Given the description of an element on the screen output the (x, y) to click on. 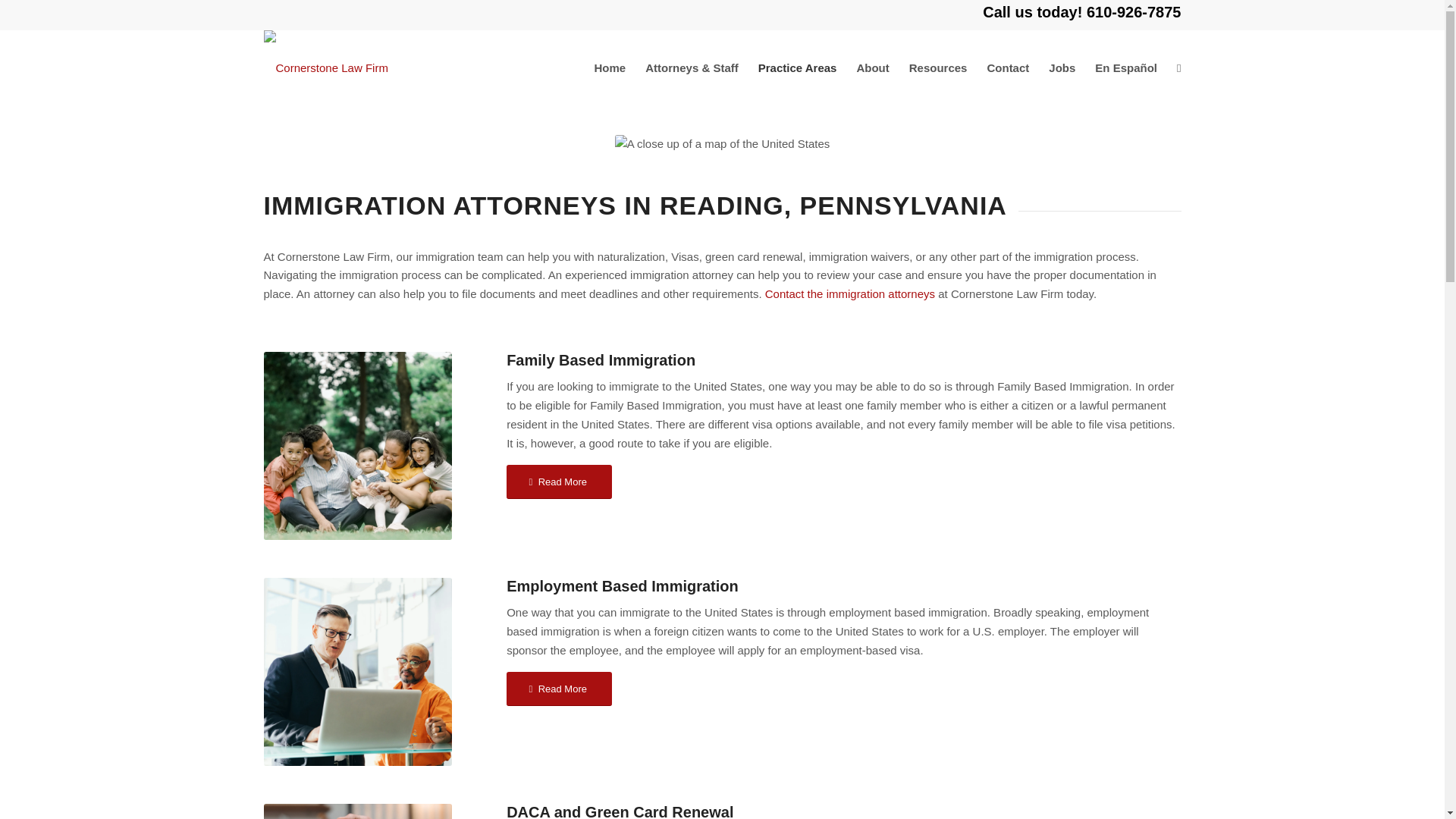
Handshake (357, 811)
Employment based immigration (357, 671)
Map header (721, 144)
Family (357, 445)
